Given the description of an element on the screen output the (x, y) to click on. 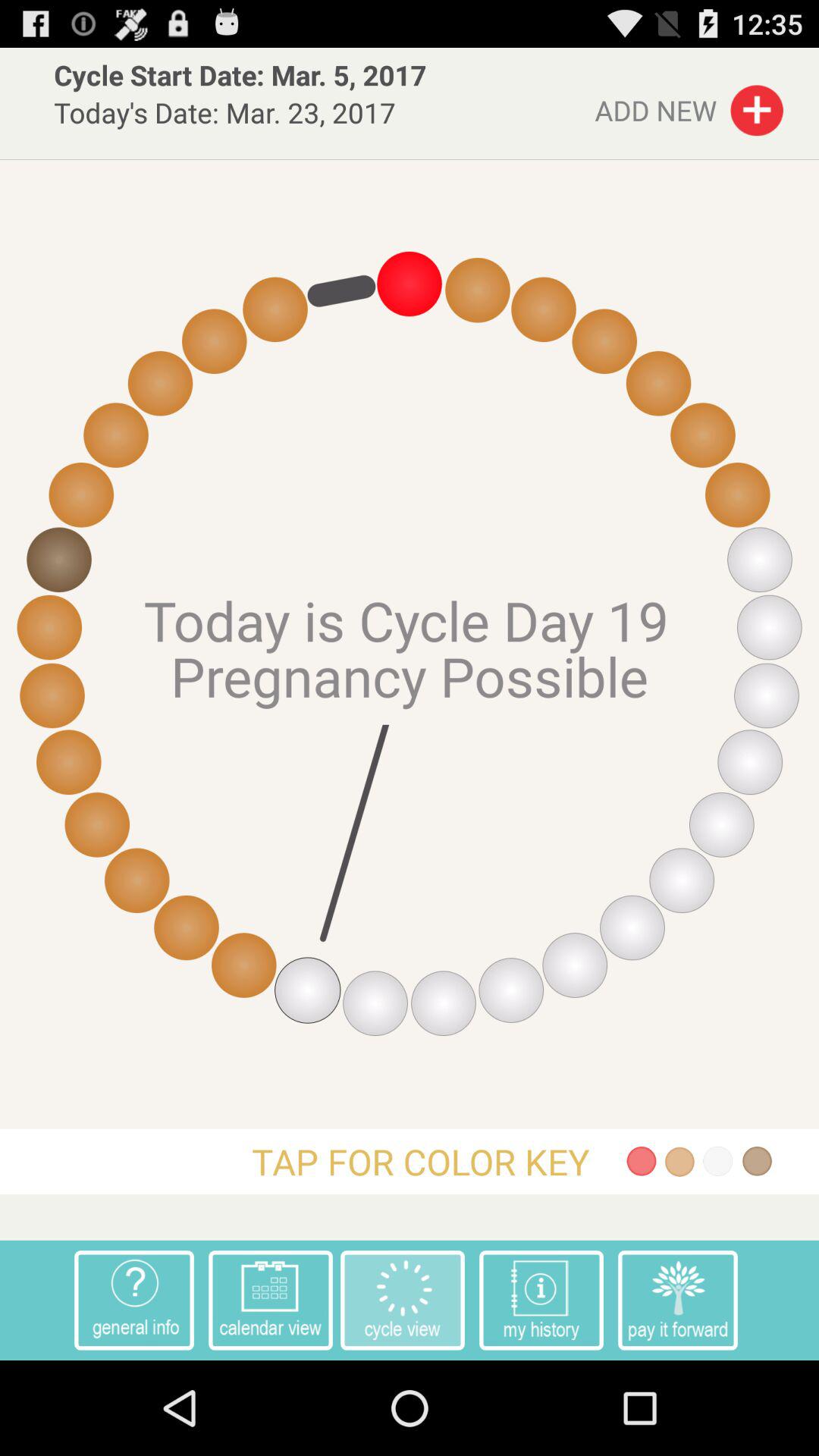
select item next to the (541, 1300)
